Given the description of an element on the screen output the (x, y) to click on. 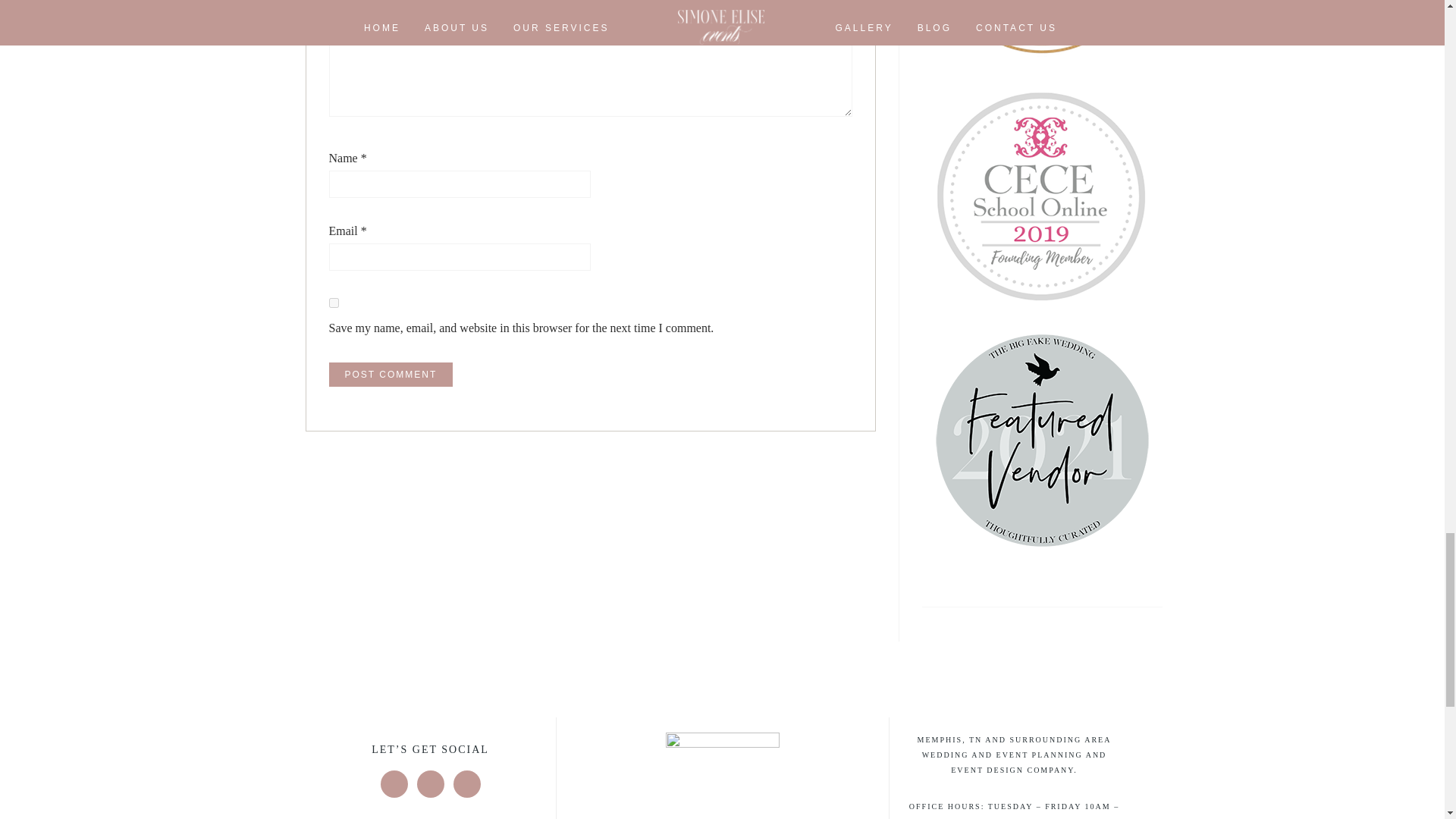
yes (334, 302)
Post Comment (390, 374)
Post Comment (390, 374)
